Given the description of an element on the screen output the (x, y) to click on. 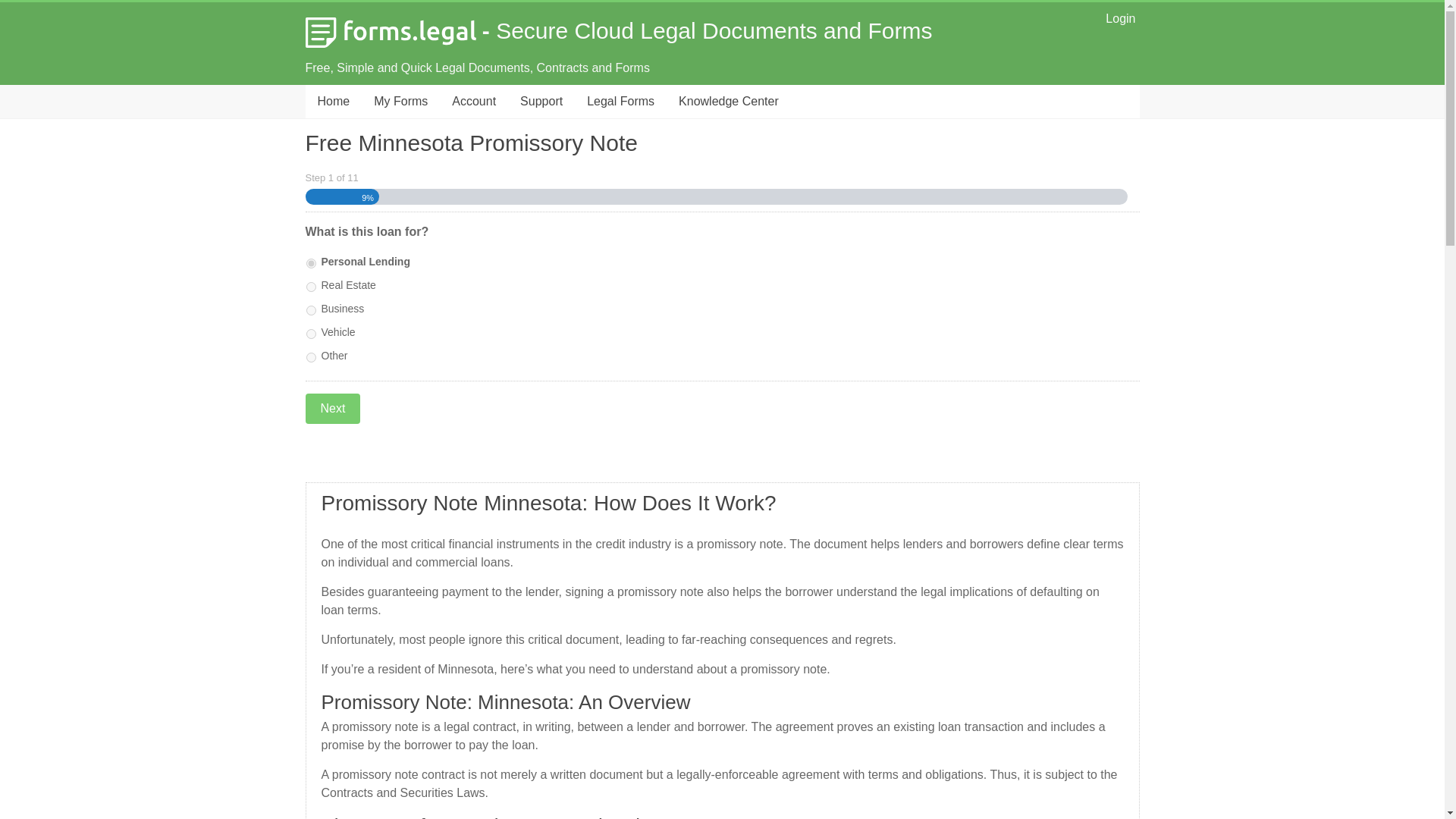
Home (332, 101)
forms.legal (617, 30)
Next (331, 408)
Knowledge Center (728, 101)
- Secure Cloud Legal Documents and Forms (617, 30)
Legal Forms (620, 101)
Account (473, 101)
Login (1120, 18)
My Forms (400, 101)
Support (541, 101)
